Given the description of an element on the screen output the (x, y) to click on. 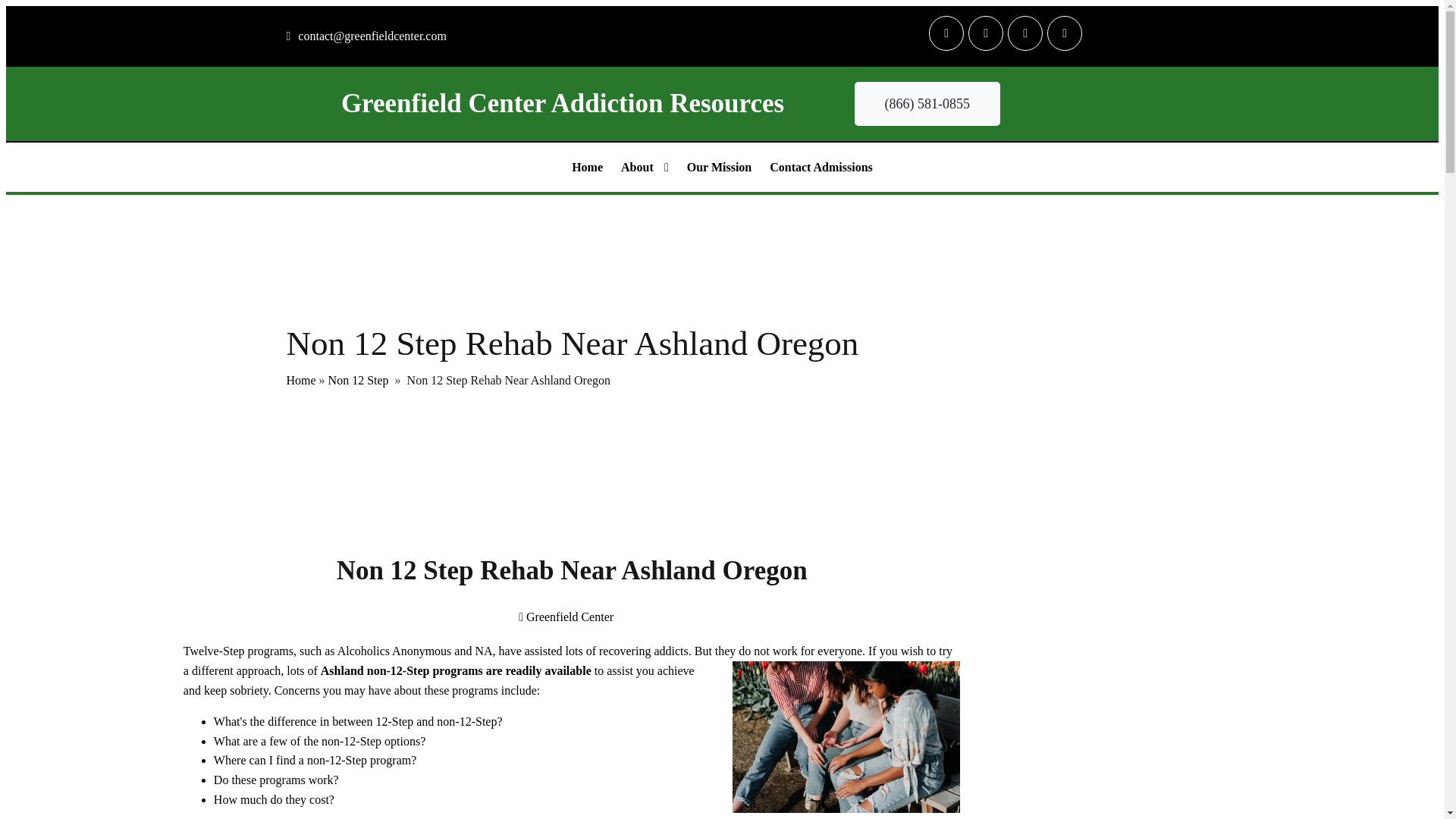
Greenfield Center (565, 616)
Our Mission (719, 167)
Non 12 Step (358, 379)
Contact Admissions (820, 167)
About (644, 167)
Home (587, 167)
Home (300, 379)
